Given the description of an element on the screen output the (x, y) to click on. 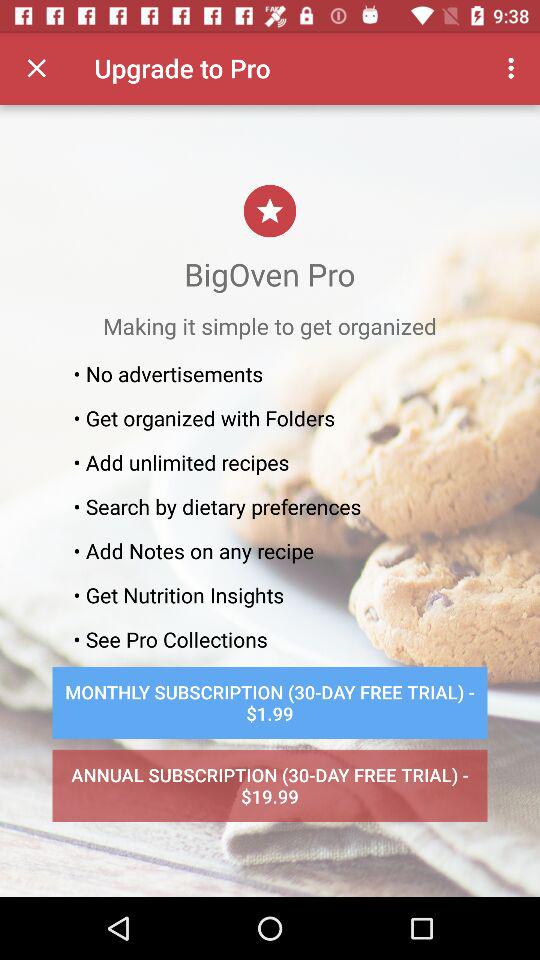
to close the page (36, 68)
